Given the description of an element on the screen output the (x, y) to click on. 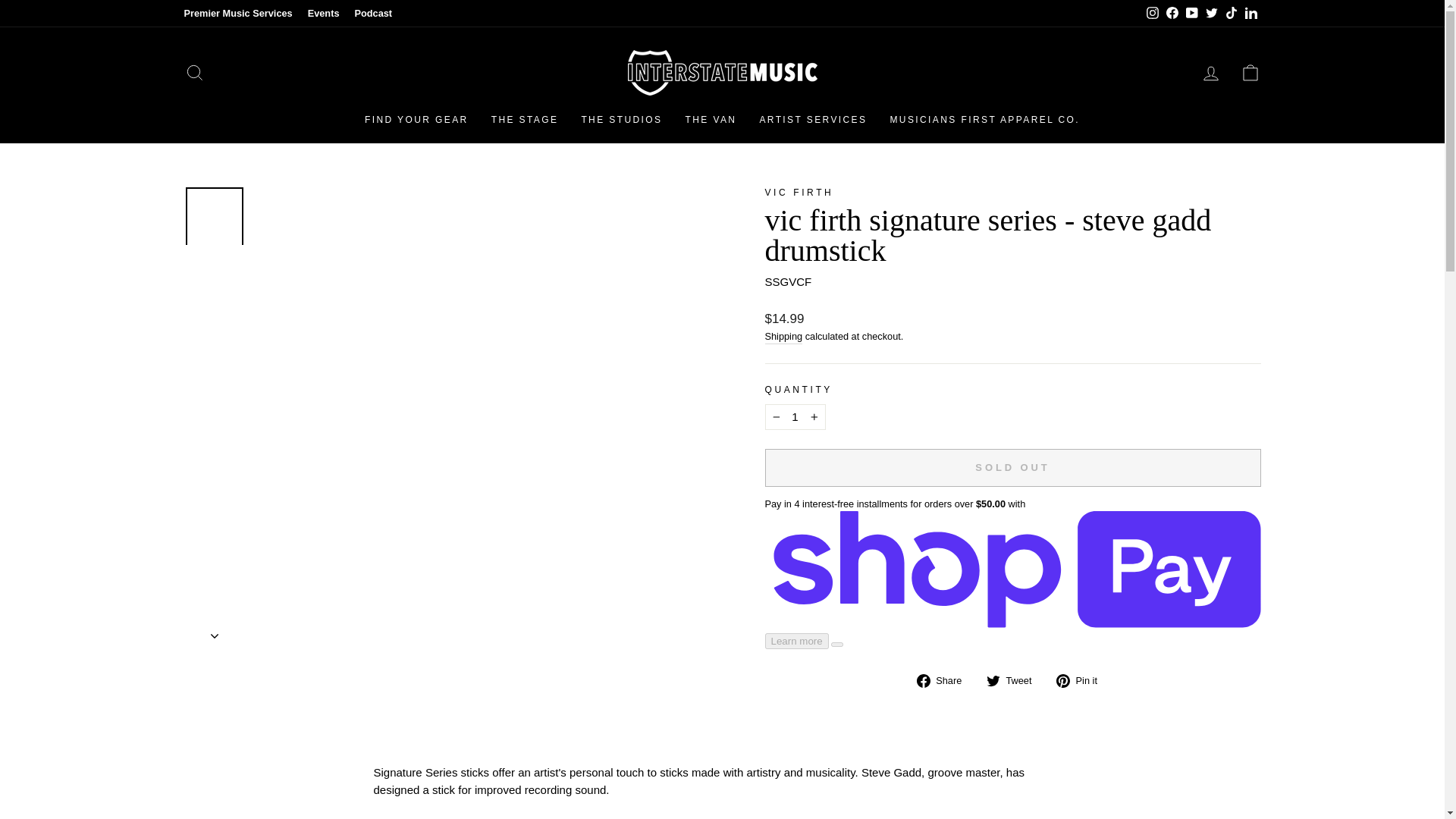
Premier Music Services (237, 13)
Interstate Music on YouTube (1190, 13)
Interstate Music on TikTok (1230, 13)
Interstate Music on Instagram (1151, 13)
Events (323, 13)
Podcast (372, 13)
1 (794, 417)
Interstate Music on Facebook (1170, 13)
Tweet on Twitter (1014, 680)
Pin on Pinterest (1082, 680)
